Given the description of an element on the screen output the (x, y) to click on. 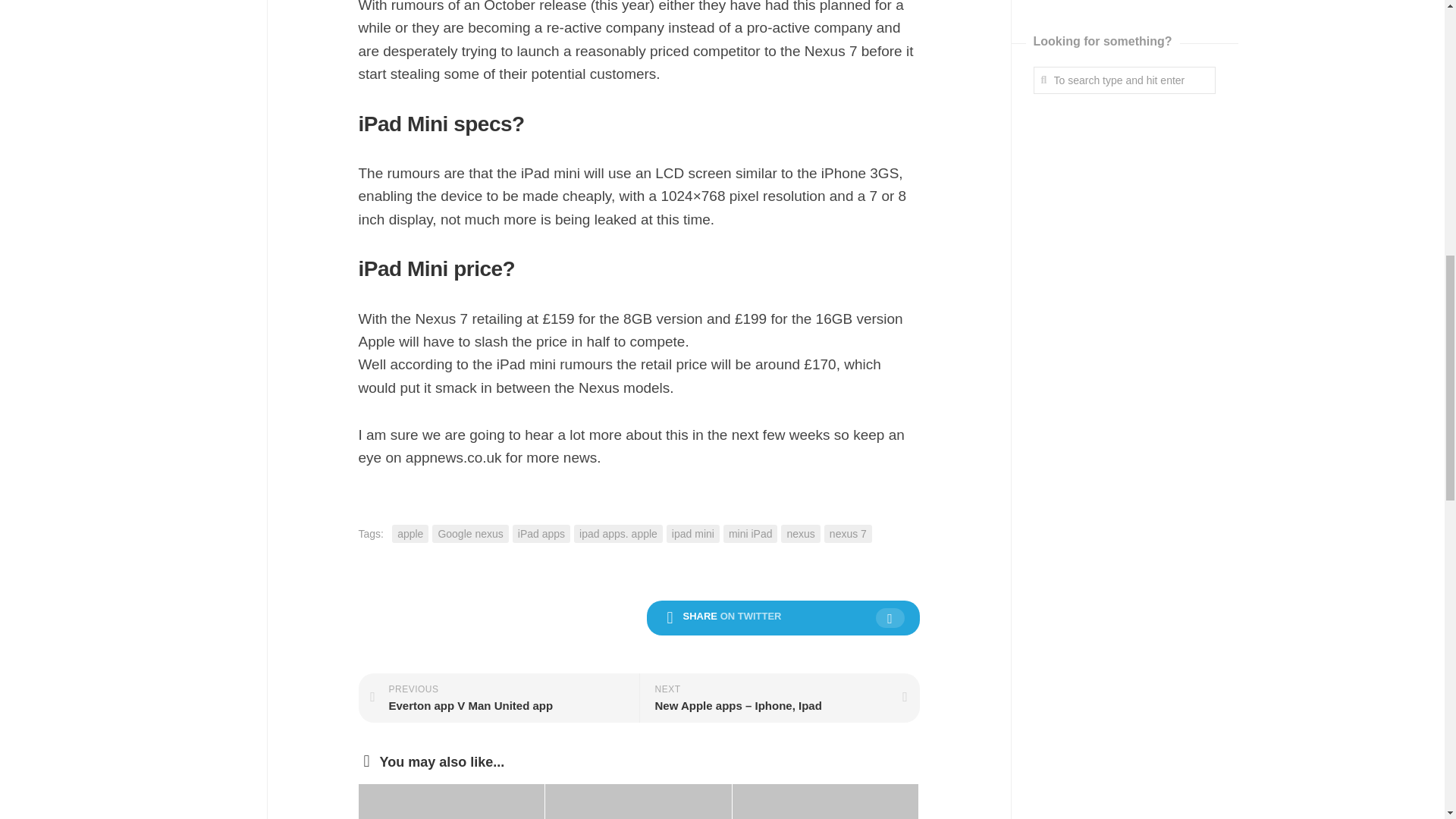
To search type and hit enter (1123, 80)
apple (409, 533)
To search type and hit enter (1123, 80)
iPad apps (541, 533)
Google nexus (470, 533)
ipad apps. apple (617, 533)
